Given the description of an element on the screen output the (x, y) to click on. 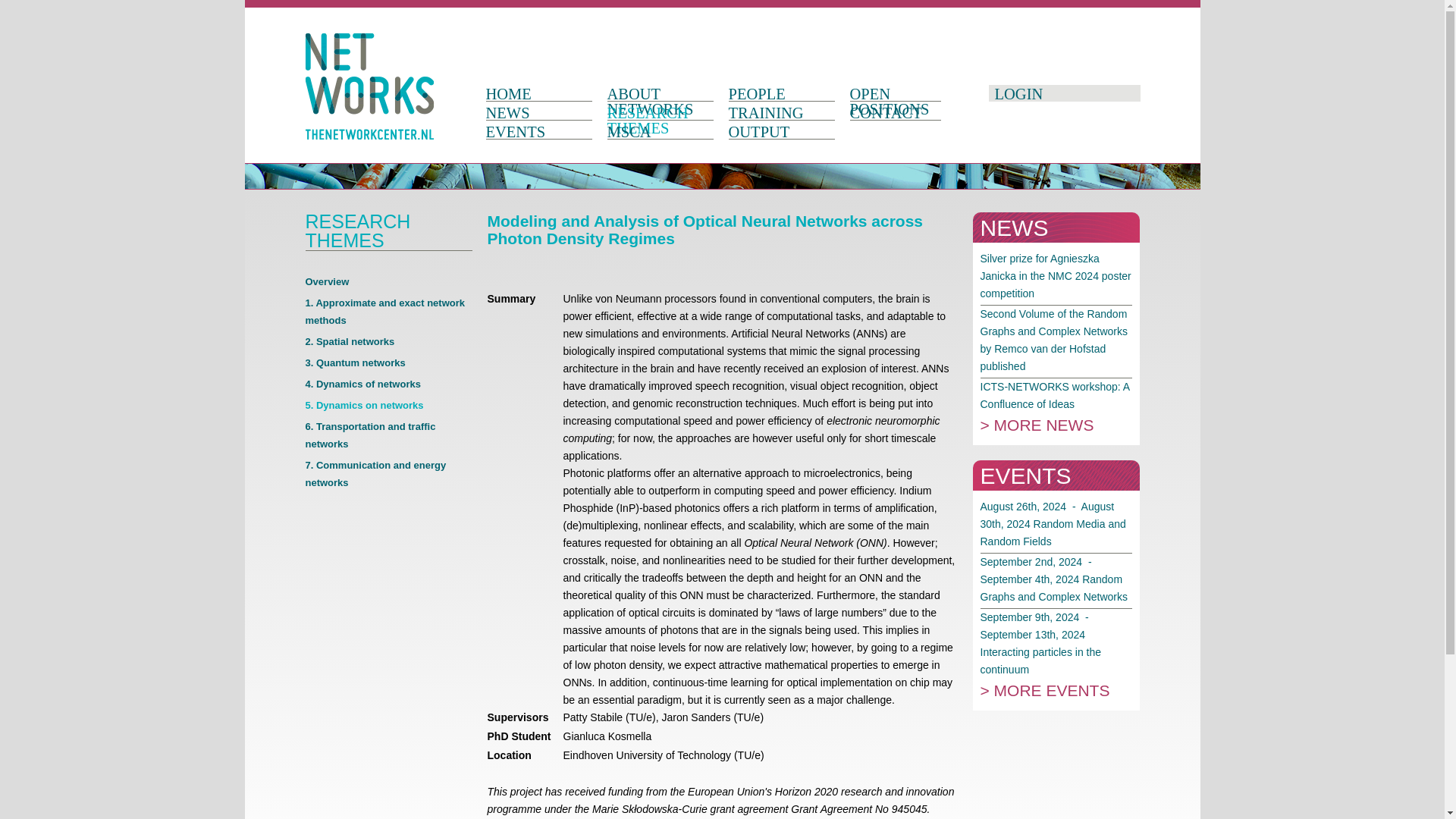
Research themes (660, 118)
Contact (901, 110)
MSCA COFUND (660, 137)
People (781, 91)
Open positions (901, 99)
MSCA COFUND (660, 137)
EVENTS (537, 129)
Home (537, 91)
OUTPUT (781, 129)
TRAINING (781, 110)
CONTACT (901, 110)
OPEN POSITIONS (901, 99)
PEOPLE (781, 91)
About NETWORKS (660, 99)
ABOUT NETWORKS (660, 99)
